Given the description of an element on the screen output the (x, y) to click on. 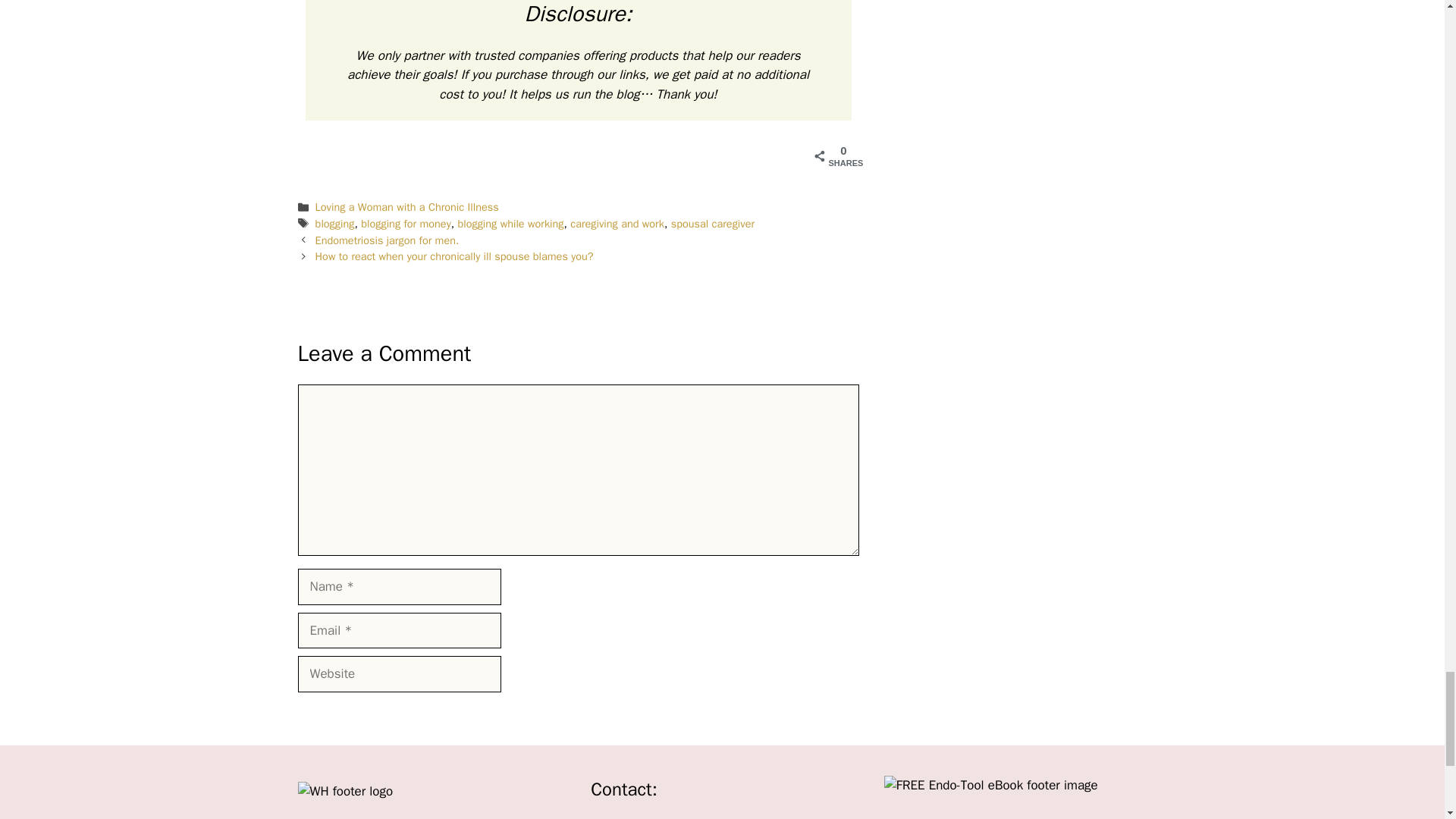
caregiving and work (616, 223)
blogging while working (510, 223)
Loving a Woman with a Chronic Illness (407, 206)
spousal caregiver (712, 223)
How to react when your chronically ill spouse blames you? (454, 255)
Endometriosis jargon for men. (387, 240)
blogging for money (406, 223)
blogging (335, 223)
